Given the description of an element on the screen output the (x, y) to click on. 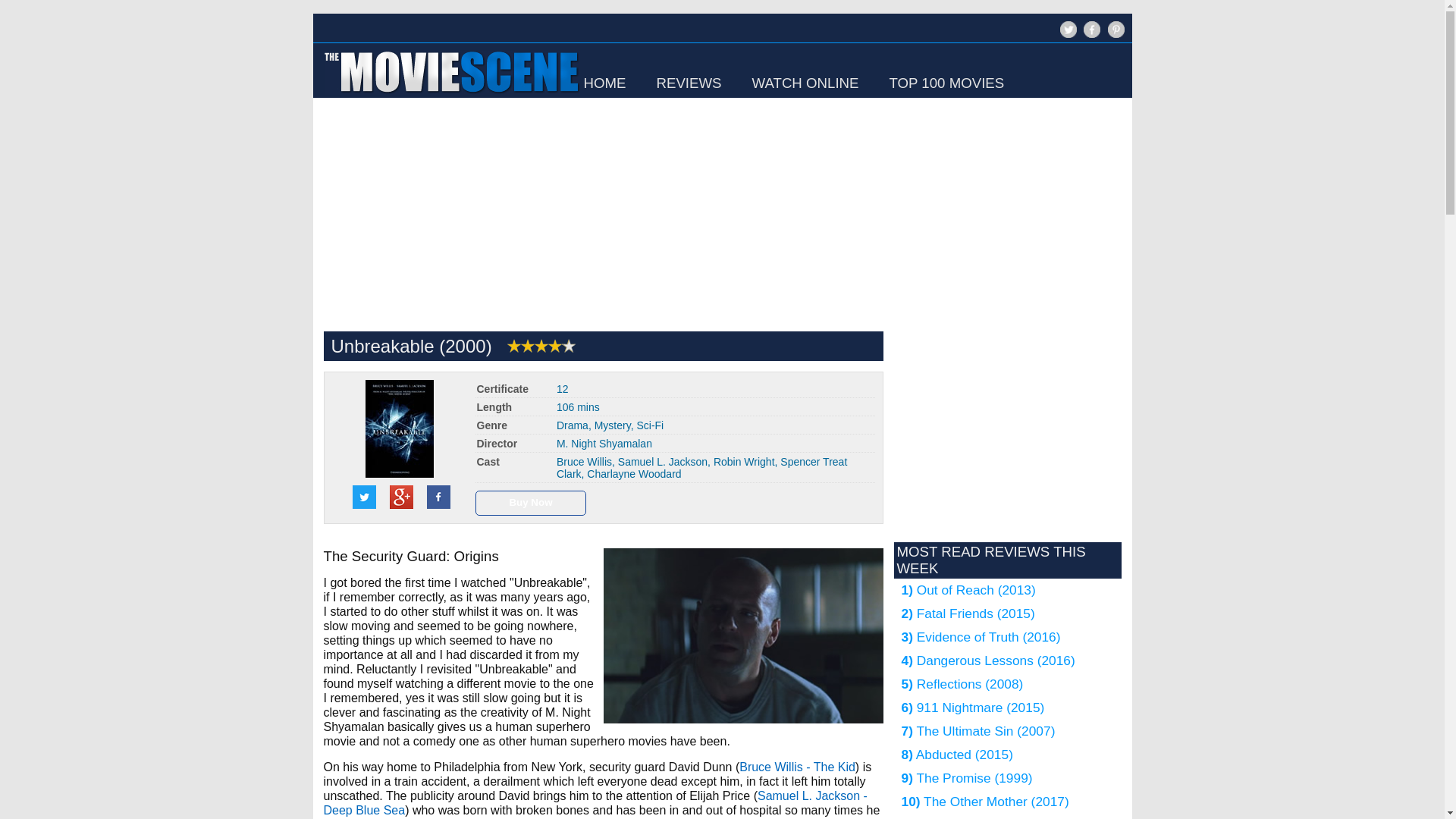
Share on Twitter (363, 496)
TOP 100 MOVIES (946, 83)
Like The Movie Scene on facebook (1090, 37)
Share on facebook (437, 496)
REVIEWS (688, 83)
Sci-Fi movies (649, 425)
Charlayne Woodard (633, 473)
Drama movies (572, 425)
Follow The Movie Scene on Twitter (1068, 29)
WATCH ONLINE (805, 83)
